Given the description of an element on the screen output the (x, y) to click on. 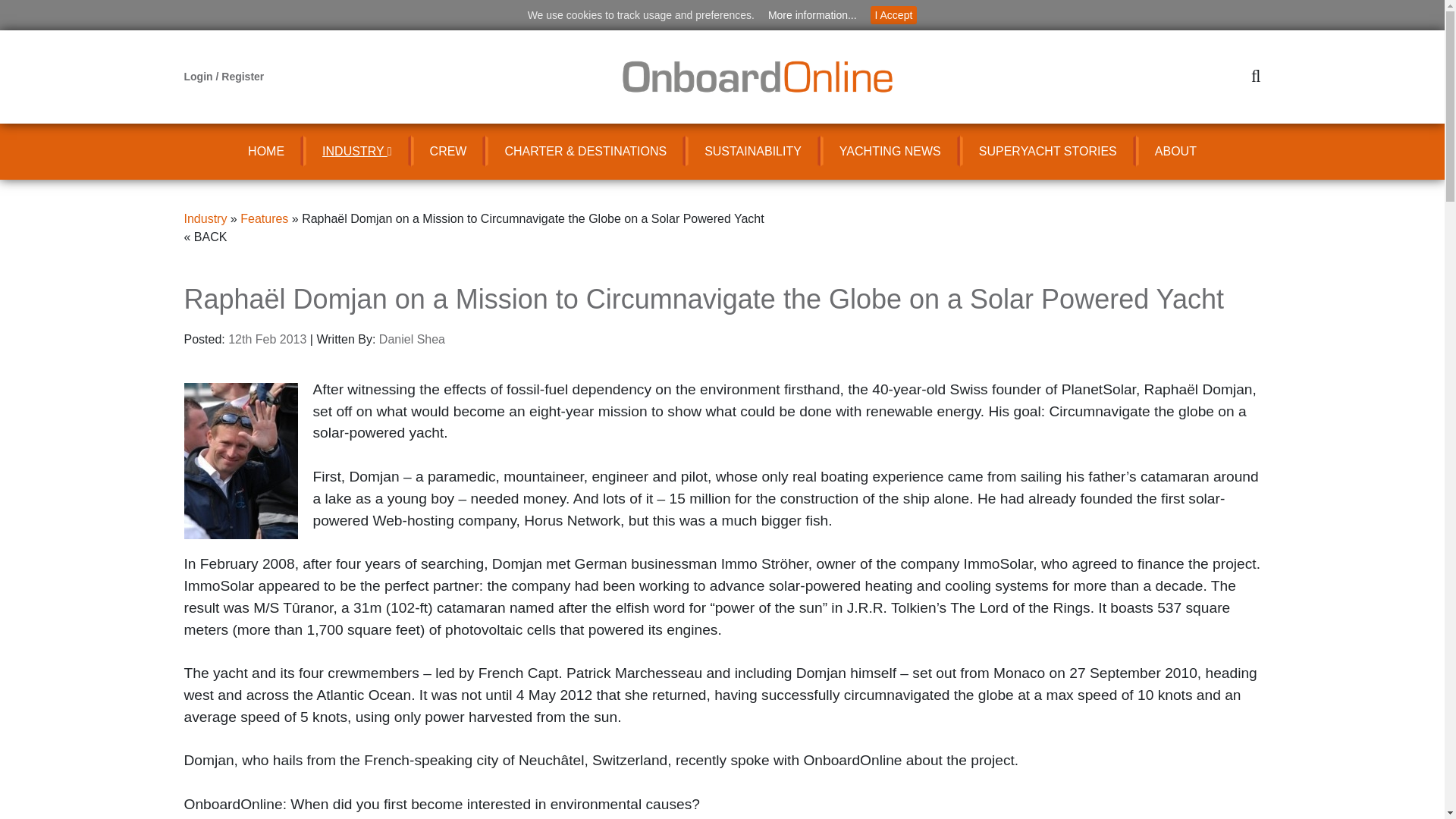
Superyacht Stories (1047, 151)
ABOUT (1175, 151)
ABOUT (1175, 151)
I Accept (893, 14)
Register (242, 76)
login (199, 76)
Features (264, 218)
CREW (448, 151)
Home (265, 151)
Crew (448, 151)
INDUSTRY (356, 151)
Sustainability (753, 151)
SUPERYACHT STORIES (1047, 151)
YACHTING NEWS (890, 151)
More information... (811, 14)
